Given the description of an element on the screen output the (x, y) to click on. 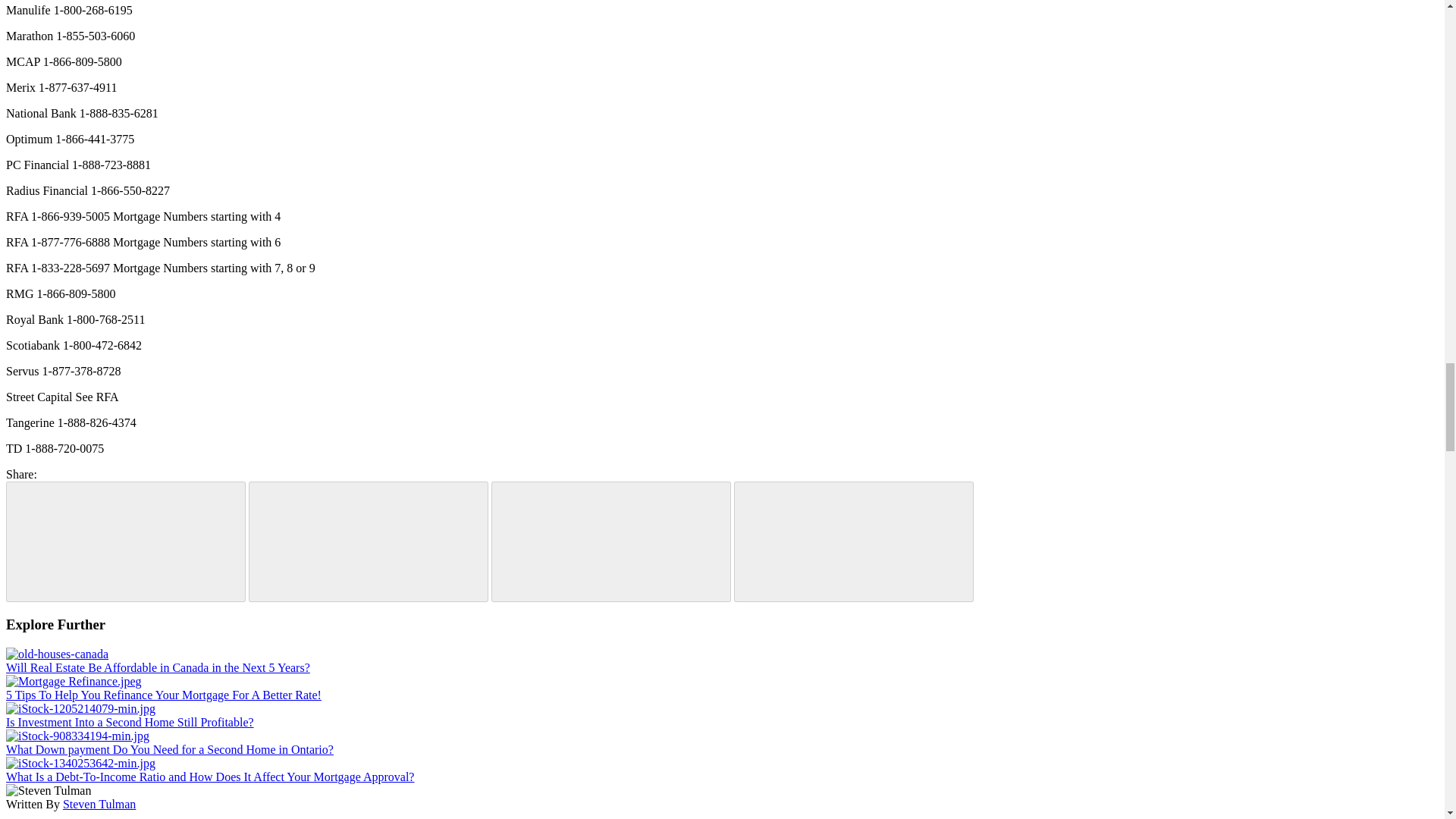
Is Investment Into a Second Home Still Profitable? (129, 721)
